Given the description of an element on the screen output the (x, y) to click on. 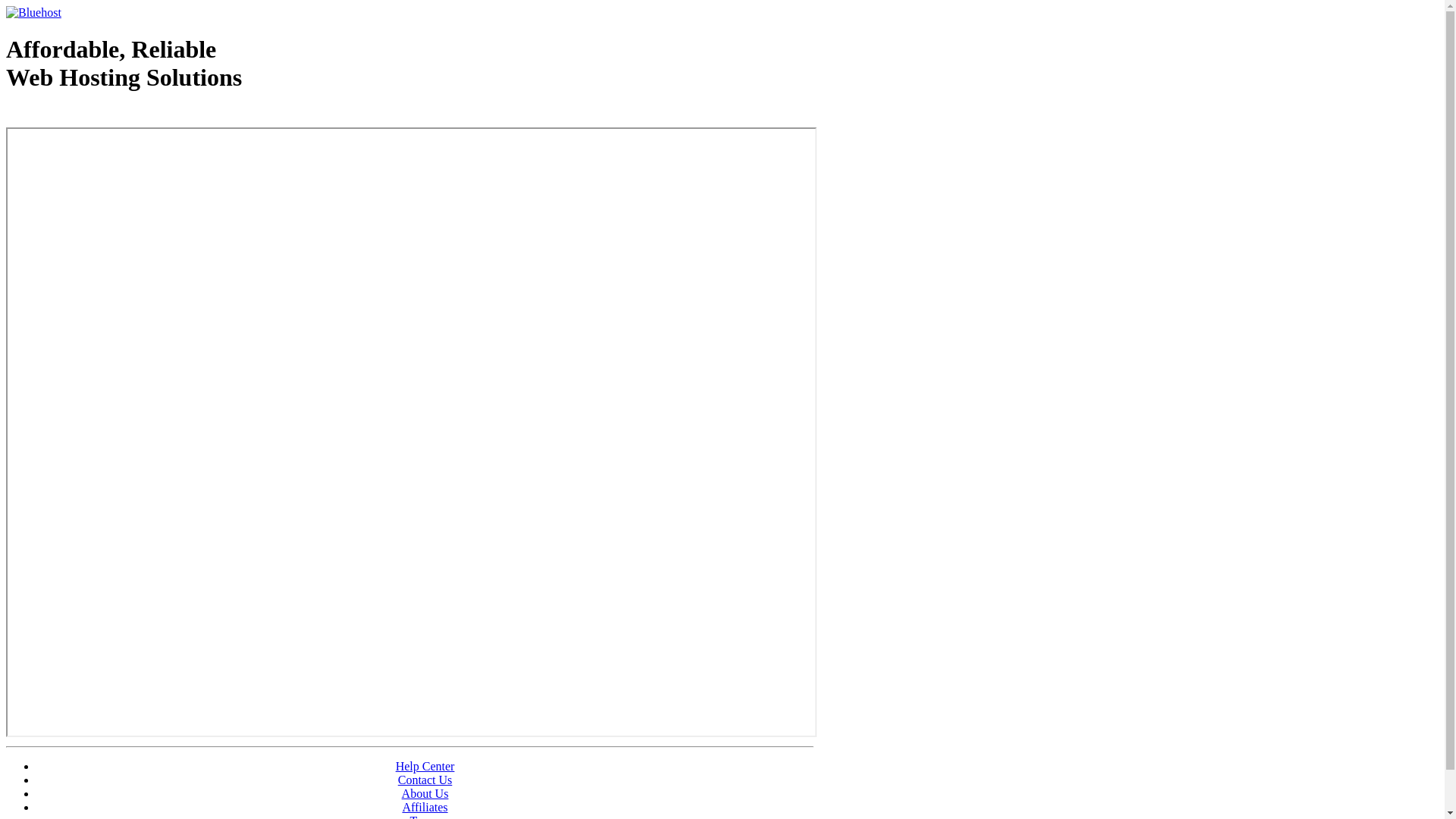
Contact Us Element type: text (425, 779)
About Us Element type: text (424, 793)
Affiliates Element type: text (424, 806)
Help Center Element type: text (425, 765)
Web Hosting - courtesy of www.bluehost.com Element type: text (94, 115)
